Given the description of an element on the screen output the (x, y) to click on. 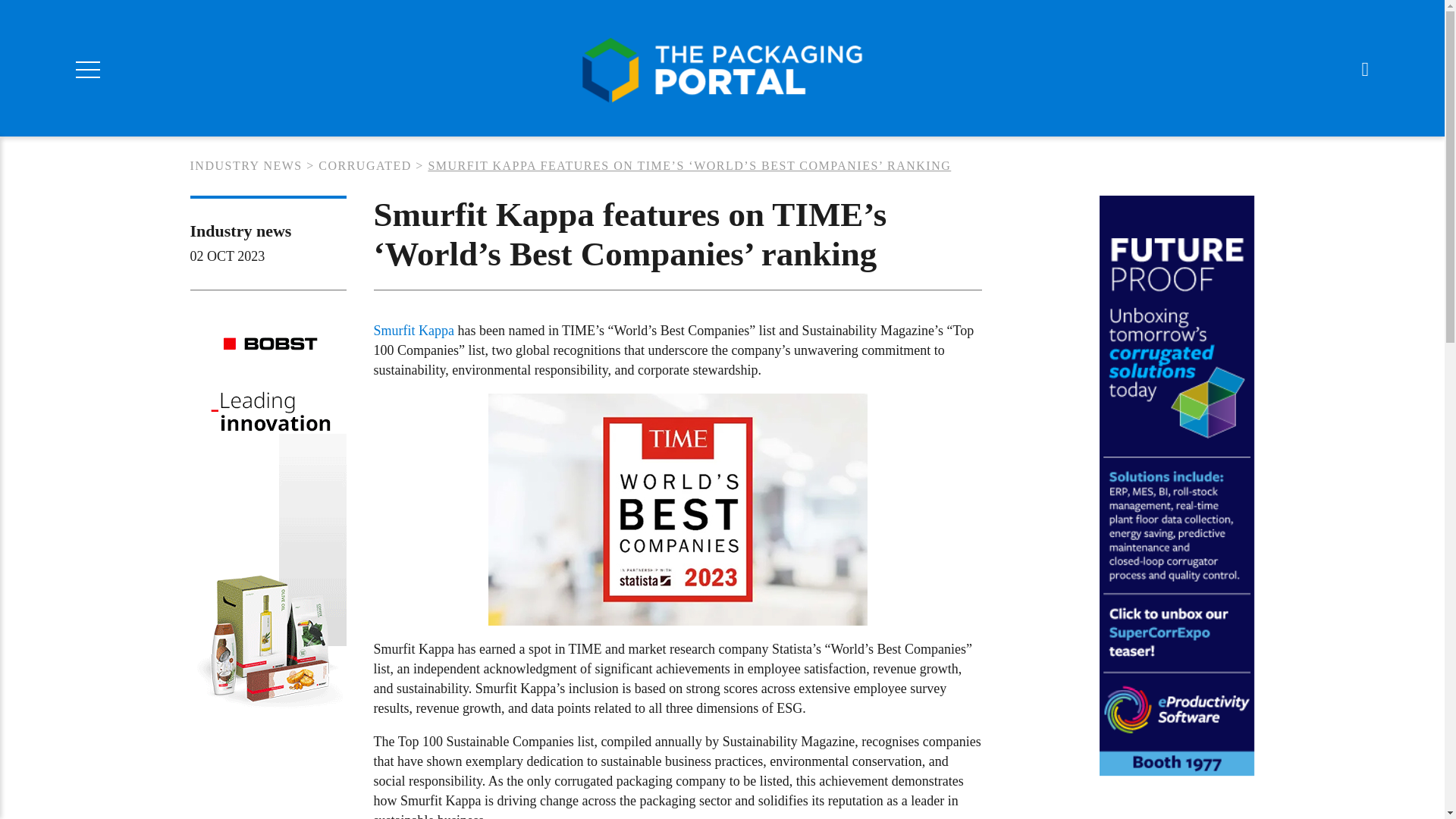
INDUSTRY NEWS (245, 164)
CORRUGATED (365, 164)
Smurfit Kappa (412, 330)
Go to the Corrugated Categories archives. (365, 164)
Go to Industry news. (245, 164)
